Given the description of an element on the screen output the (x, y) to click on. 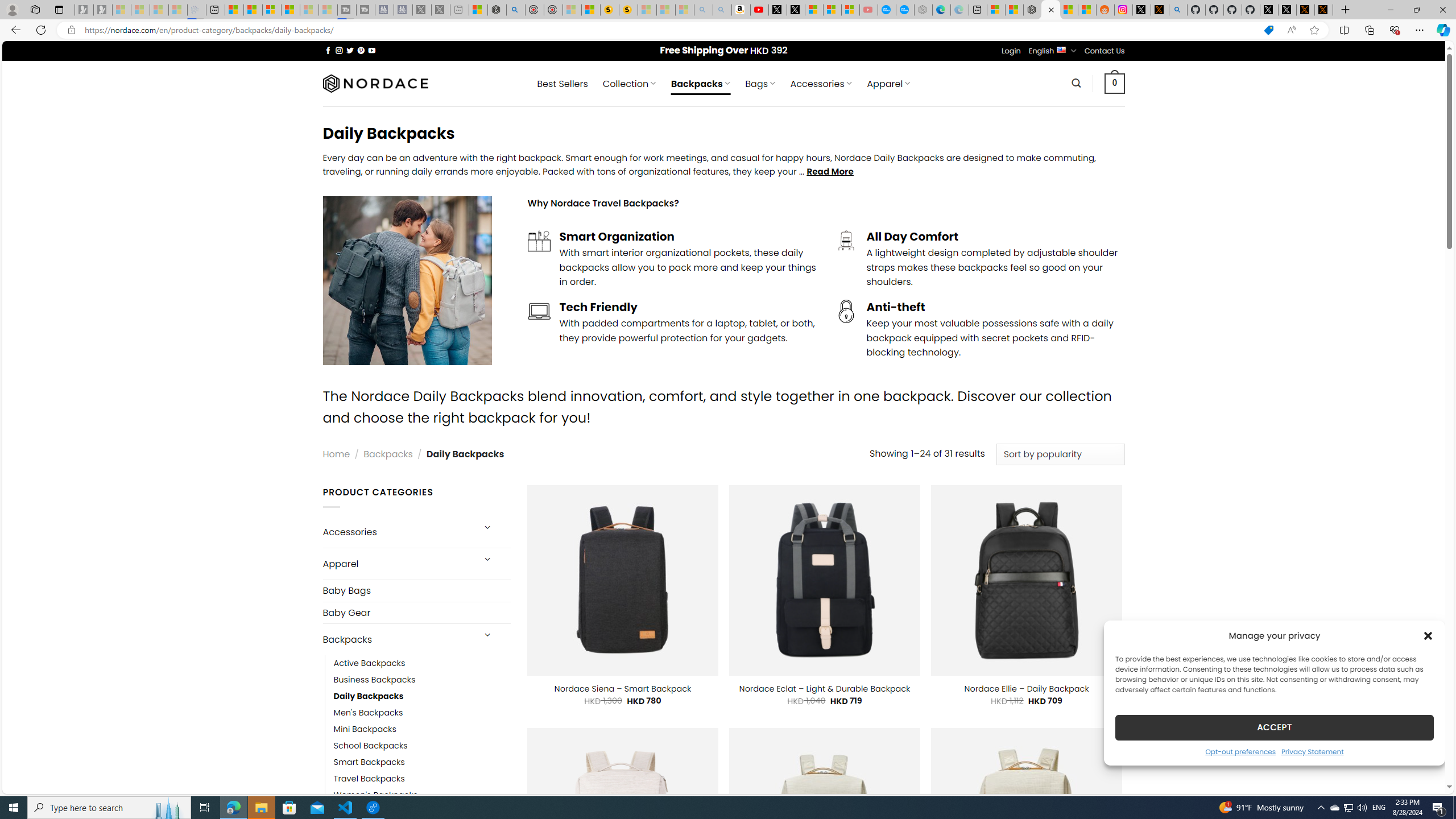
Microsoft Start - Sleeping (309, 9)
Apparel (397, 563)
Day 1: Arriving in Yemen (surreal to be here) - YouTube (759, 9)
poe - Search (515, 9)
Smart Backpacks (422, 762)
This site has coupons! Shopping in Microsoft Edge (1268, 29)
